Given the description of an element on the screen output the (x, y) to click on. 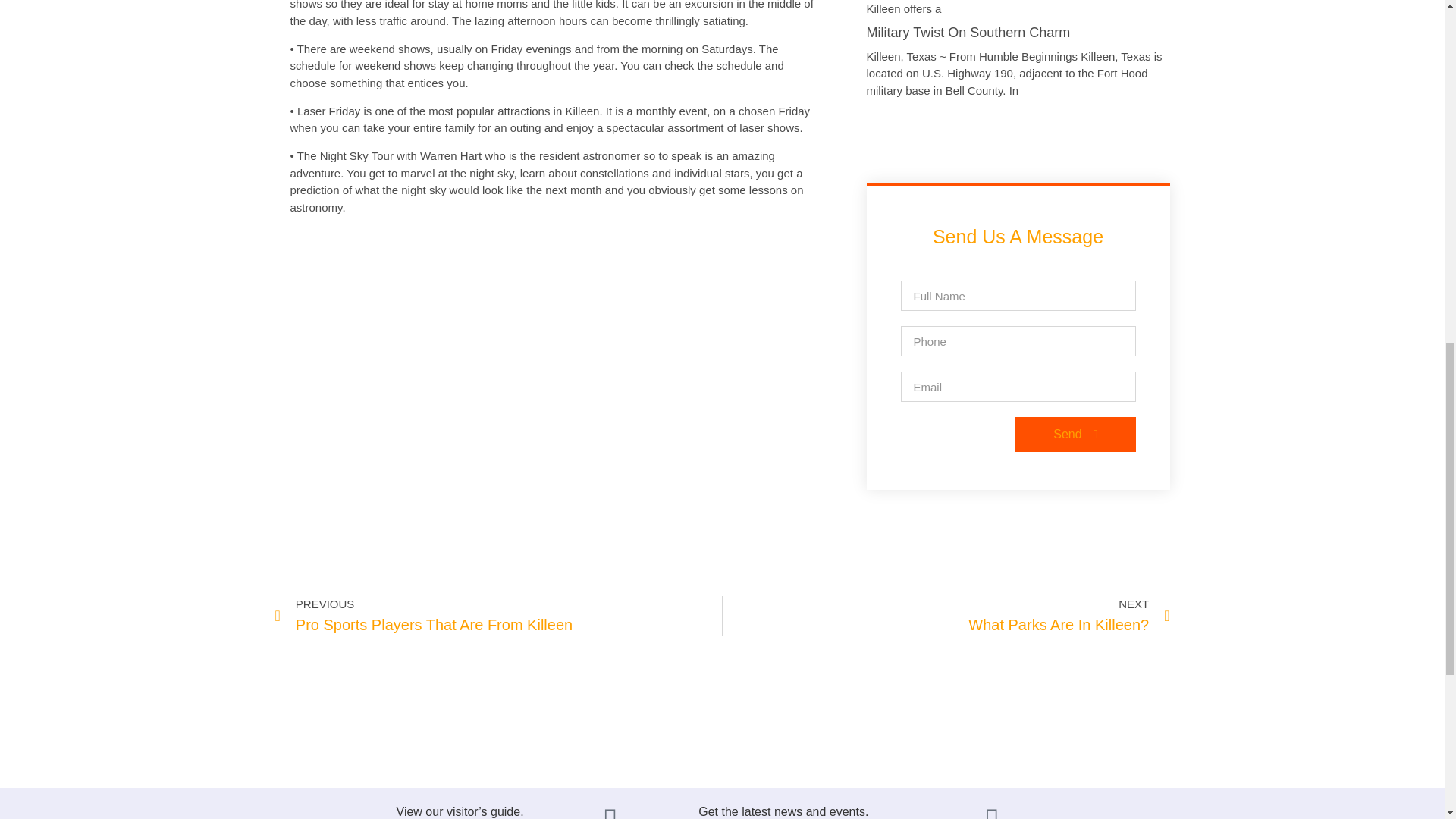
Send (946, 616)
Military Twist On Southern Charm (1074, 434)
